Given the description of an element on the screen output the (x, y) to click on. 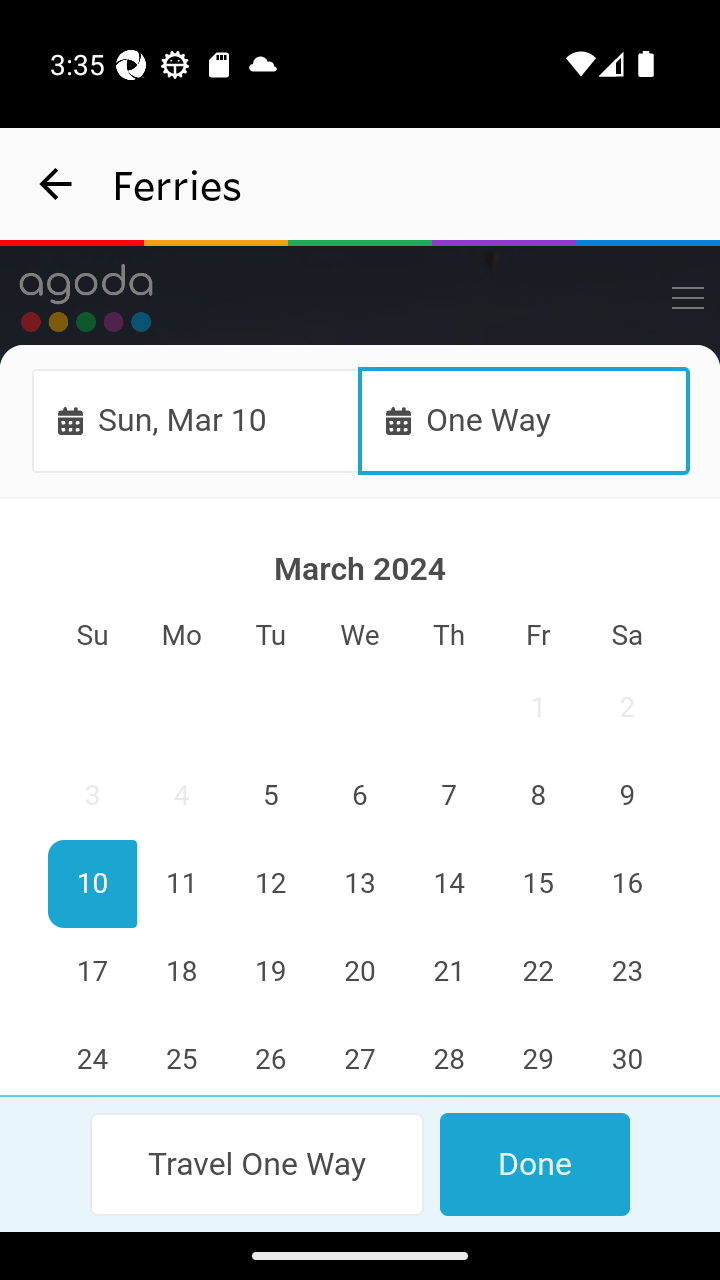
navigation_button (56, 184)
Sun, Mar 10 (195, 420)
One Way (524, 420)
1 (537, 708)
2 (626, 708)
3 (93, 797)
4 (182, 797)
5 (271, 797)
6 (359, 797)
7 (448, 797)
8 (537, 797)
9 (626, 797)
10 (93, 884)
11 (182, 884)
12 (271, 884)
13 (359, 884)
14 (448, 884)
15 (537, 884)
16 (626, 884)
17 (93, 972)
18 (182, 972)
19 (271, 972)
20 (359, 972)
21 (448, 972)
22 (537, 972)
23 (626, 972)
24 (93, 1055)
25 (182, 1055)
26 (271, 1055)
27 (359, 1055)
28 (448, 1055)
29 (537, 1055)
30 (626, 1055)
Travel One Way (258, 1164)
Done (534, 1164)
